Given the description of an element on the screen output the (x, y) to click on. 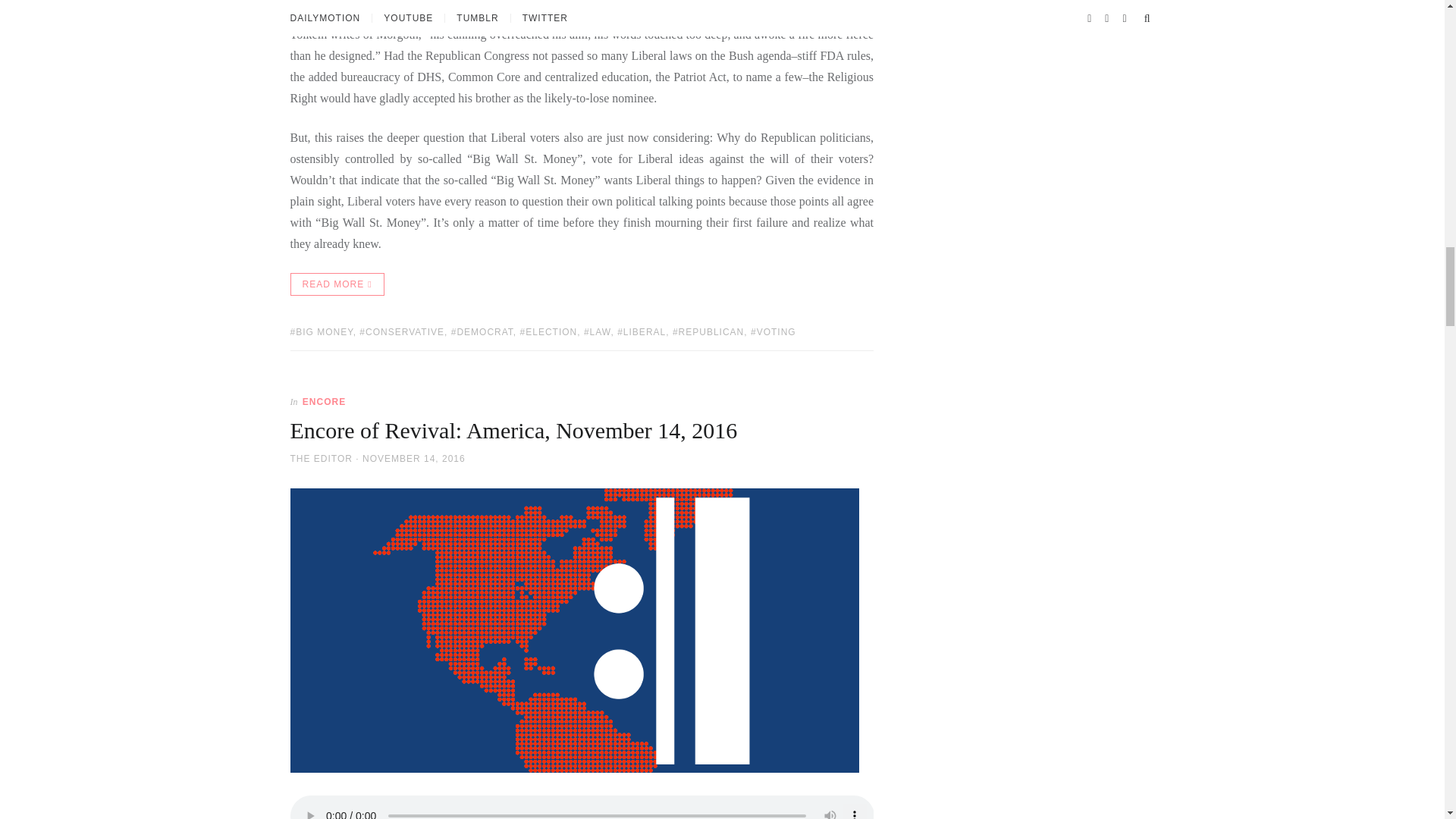
LIBERAL (641, 331)
LAW (597, 331)
READ MORE (336, 283)
REPUBLICAN (708, 331)
DEMOCRAT (482, 331)
ELECTION (548, 331)
CONSERVATIVE (401, 331)
BIG MONEY (320, 331)
